Given the description of an element on the screen output the (x, y) to click on. 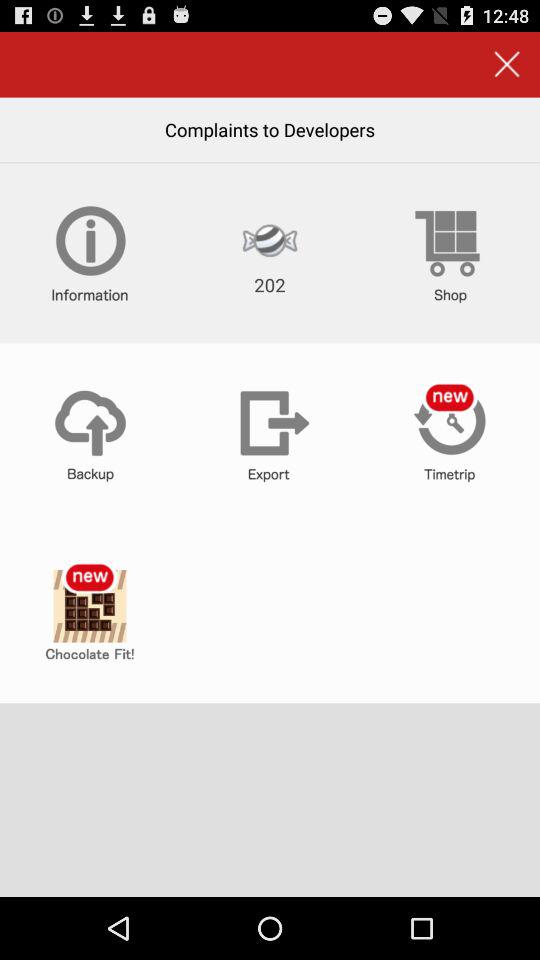
select complaint (90, 613)
